Given the description of an element on the screen output the (x, y) to click on. 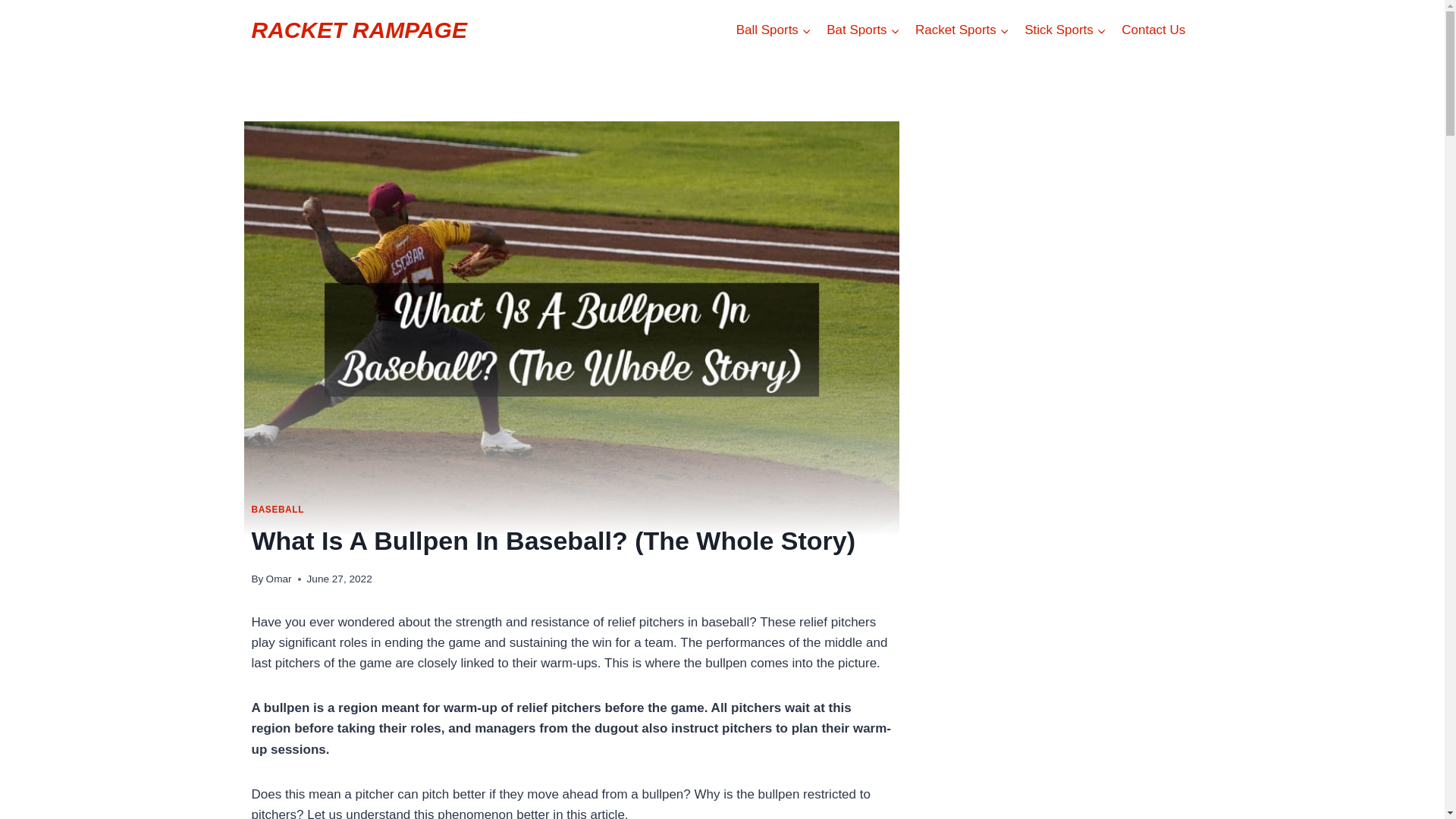
Ball Sports (773, 30)
BASEBALL (277, 509)
Bat Sports (862, 30)
Stick Sports (1064, 30)
Racket Sports (961, 30)
Contact Us (1152, 30)
RACKET RAMPAGE (359, 30)
Omar (279, 578)
